Given the description of an element on the screen output the (x, y) to click on. 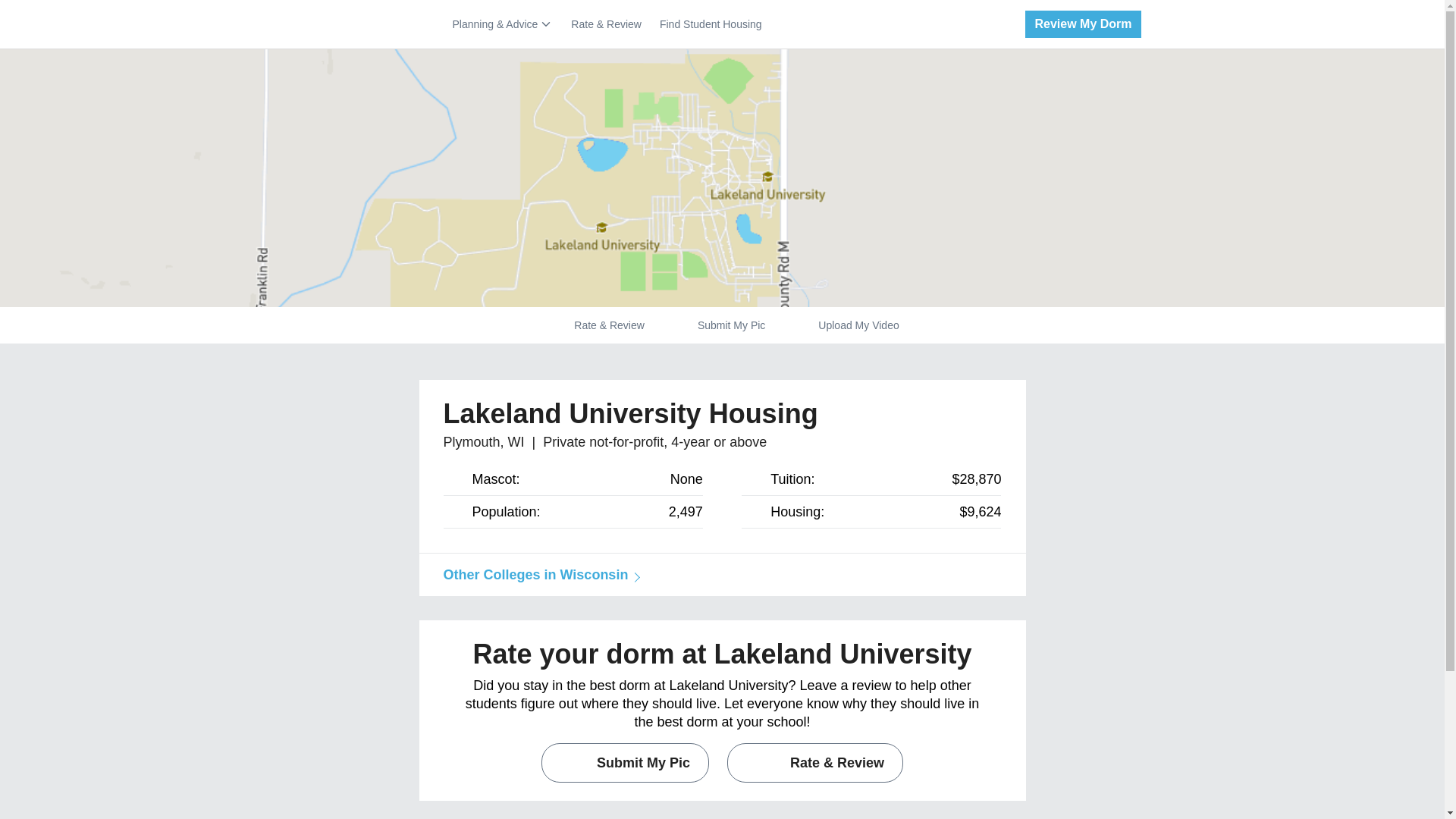
Review My Dorm (1076, 23)
Submit My Pic (625, 762)
Other Colleges in Wisconsin (538, 574)
Find Student Housing (710, 24)
Submit My Pic (731, 324)
Upload My Video (858, 324)
